Given the description of an element on the screen output the (x, y) to click on. 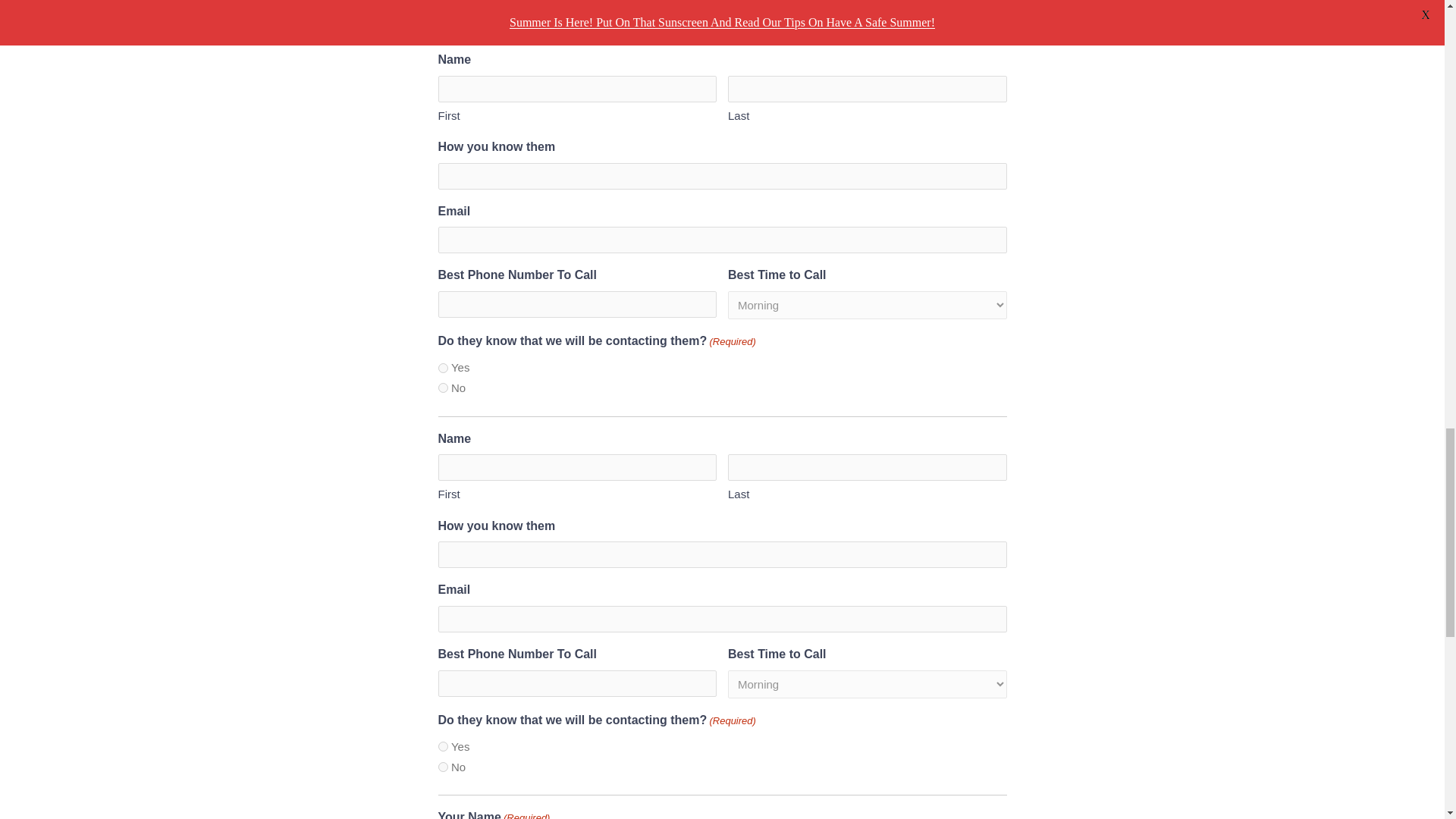
No (443, 388)
No (443, 9)
Yes (443, 746)
Yes (443, 368)
